Given the description of an element on the screen output the (x, y) to click on. 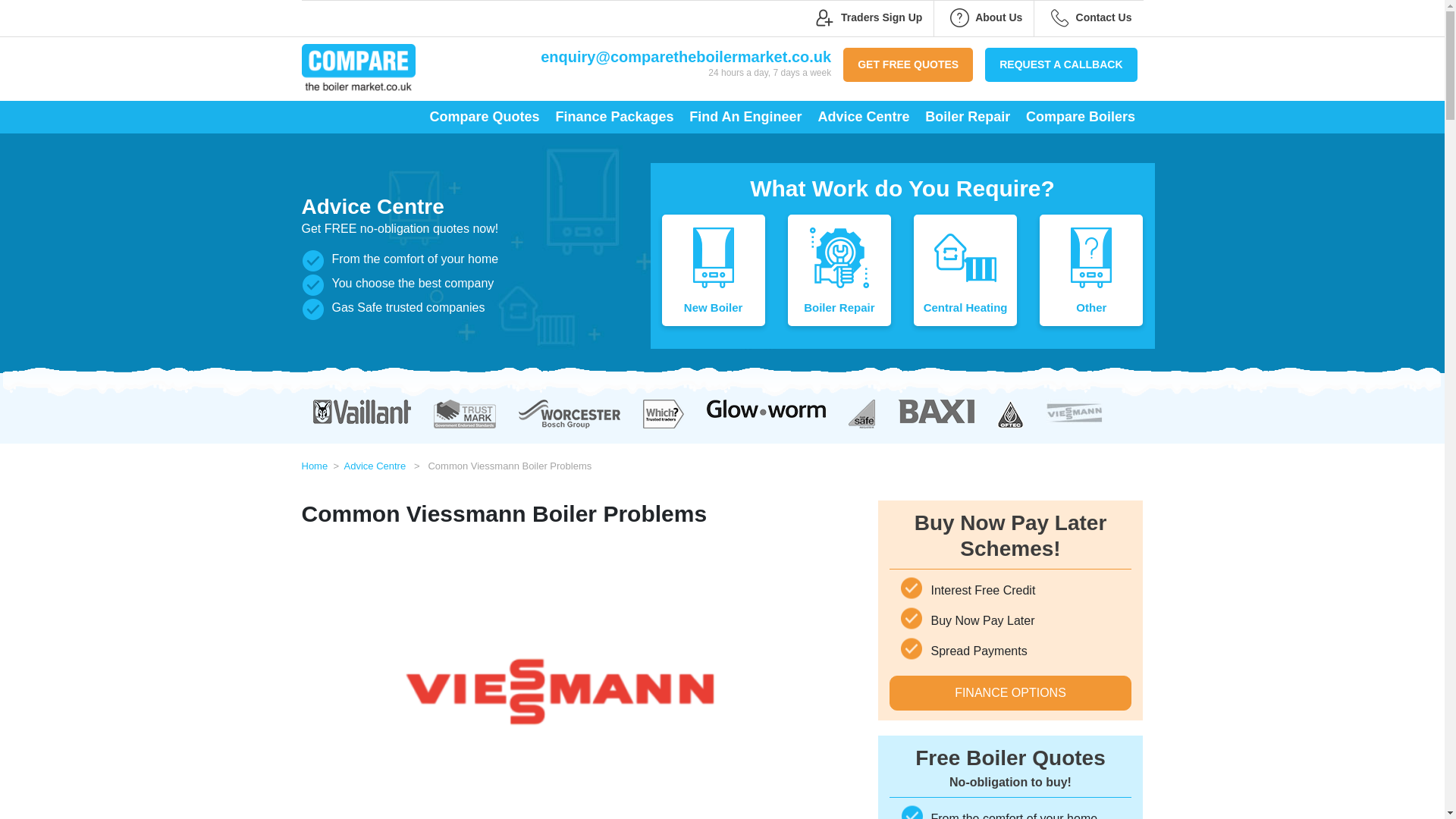
Finance Packages (614, 116)
Find An Engineer (745, 116)
Compare Boilers (1079, 116)
Other (1091, 271)
Home (315, 464)
Advice Centre (374, 464)
Central Heating (964, 271)
  About Us (985, 17)
  Contact Us (1090, 17)
  Traders Sign Up (867, 17)
FINANCE OPTIONS (1009, 692)
Compare Quotes (484, 116)
Advice Centre (863, 116)
Boiler Repair (839, 271)
Boiler Repair (967, 116)
